Given the description of an element on the screen output the (x, y) to click on. 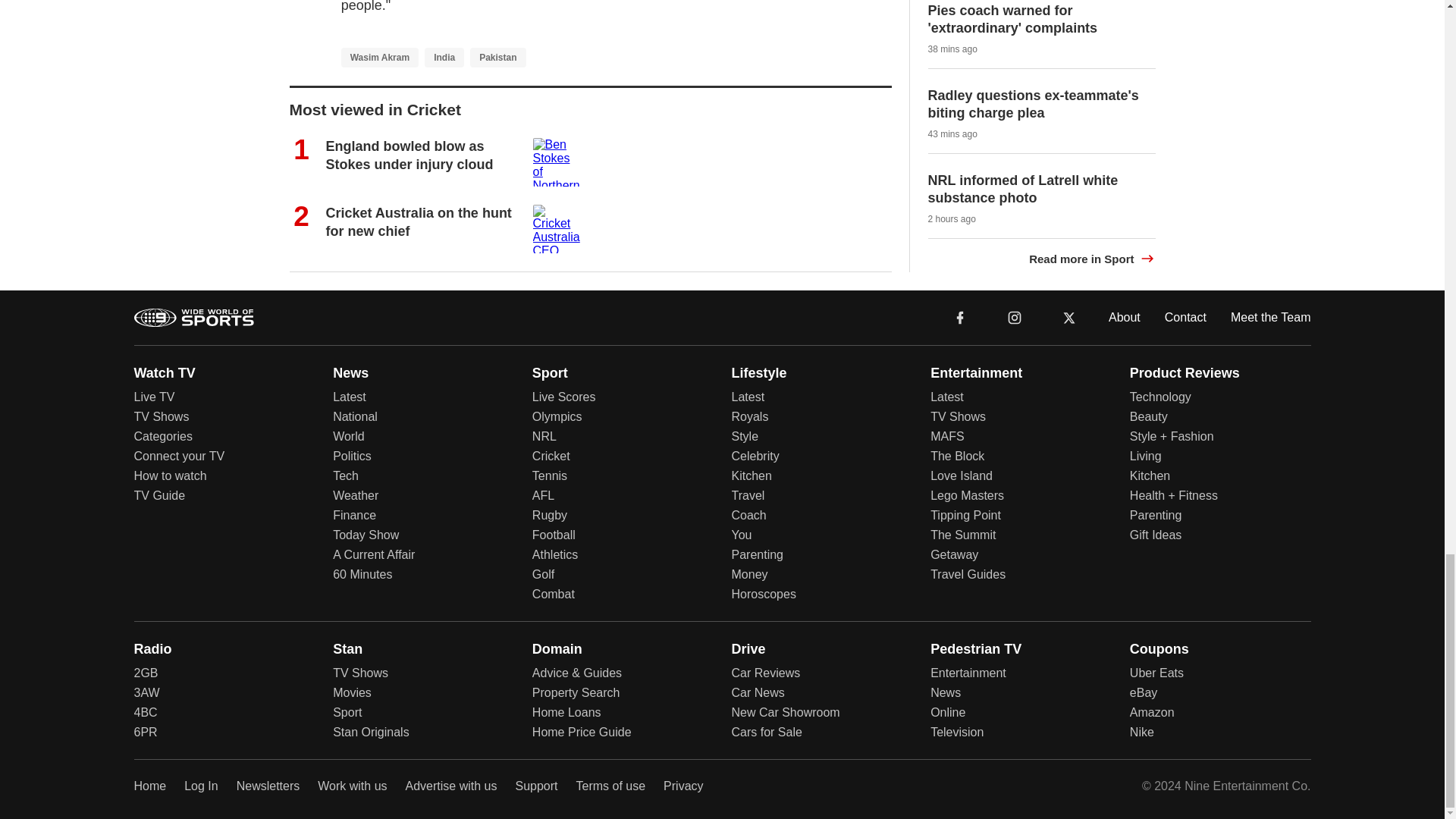
x (1069, 316)
instagram (1013, 316)
England bowled blow as Stokes under injury cloud (409, 154)
Pakistan (497, 57)
facebook (959, 316)
India (444, 57)
Cricket Australia on the hunt for new chief (419, 221)
instagram (1013, 316)
instagram (1014, 317)
Wasim Akram (379, 57)
